Given the description of an element on the screen output the (x, y) to click on. 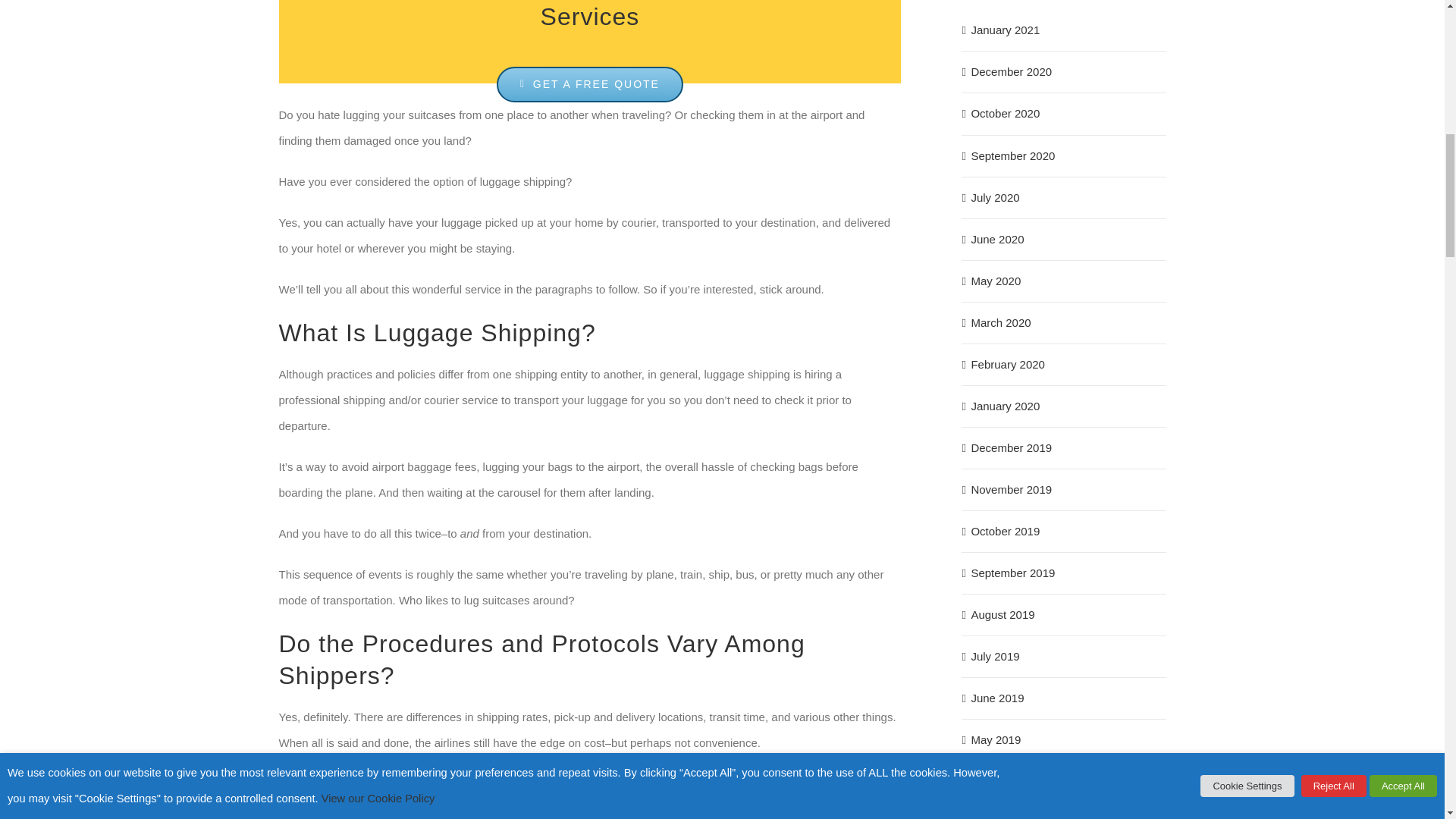
Lugging Less: The Benefits of Luggage Shipping Services (590, 41)
GET A FREE QUOTE (589, 84)
